Given the description of an element on the screen output the (x, y) to click on. 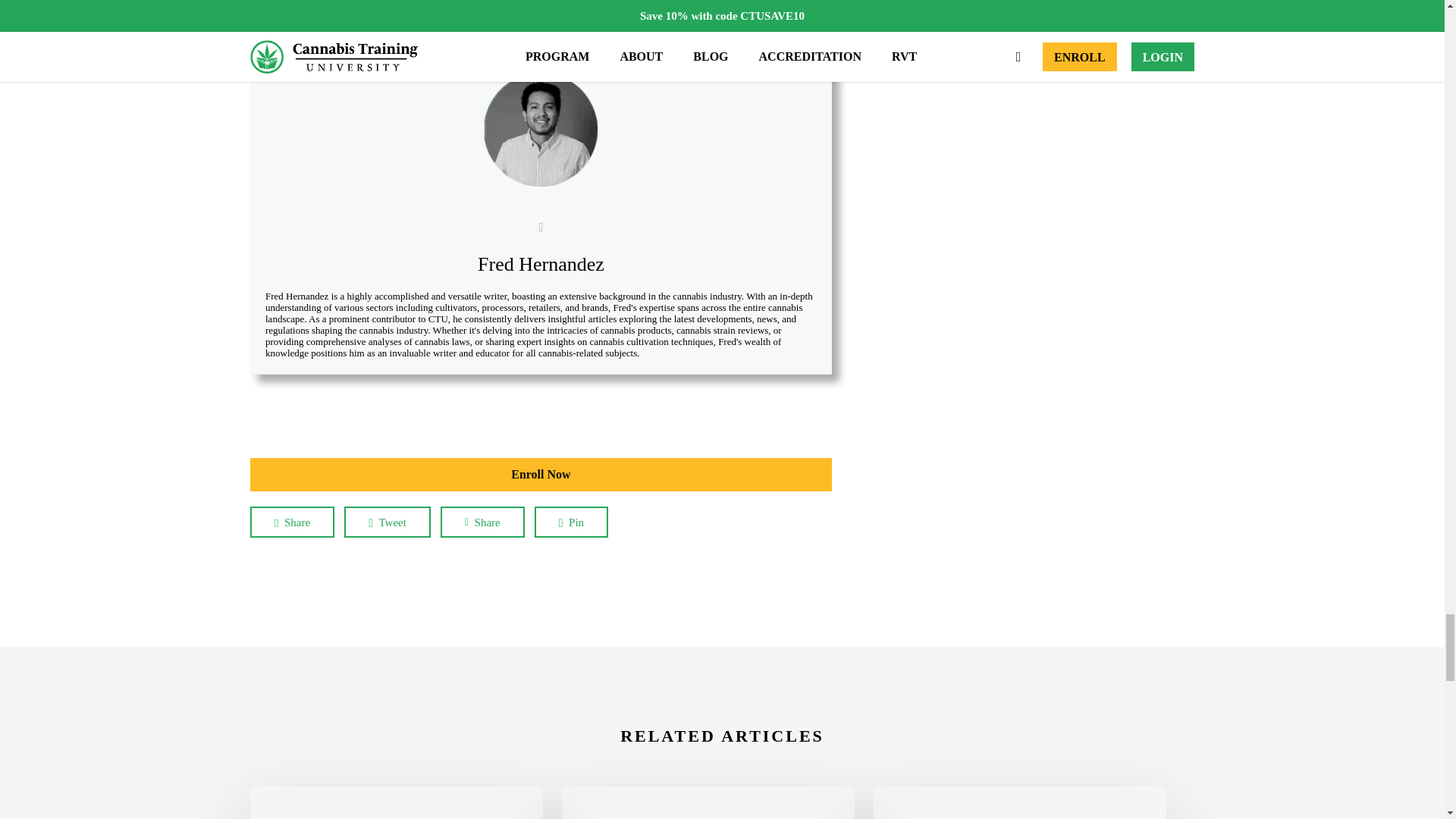
Pin this (571, 521)
Share this (292, 521)
Share this (482, 521)
How to Start a Marijuana Business in Michigan 2 (539, 129)
Tweet this (386, 521)
